Given the description of an element on the screen output the (x, y) to click on. 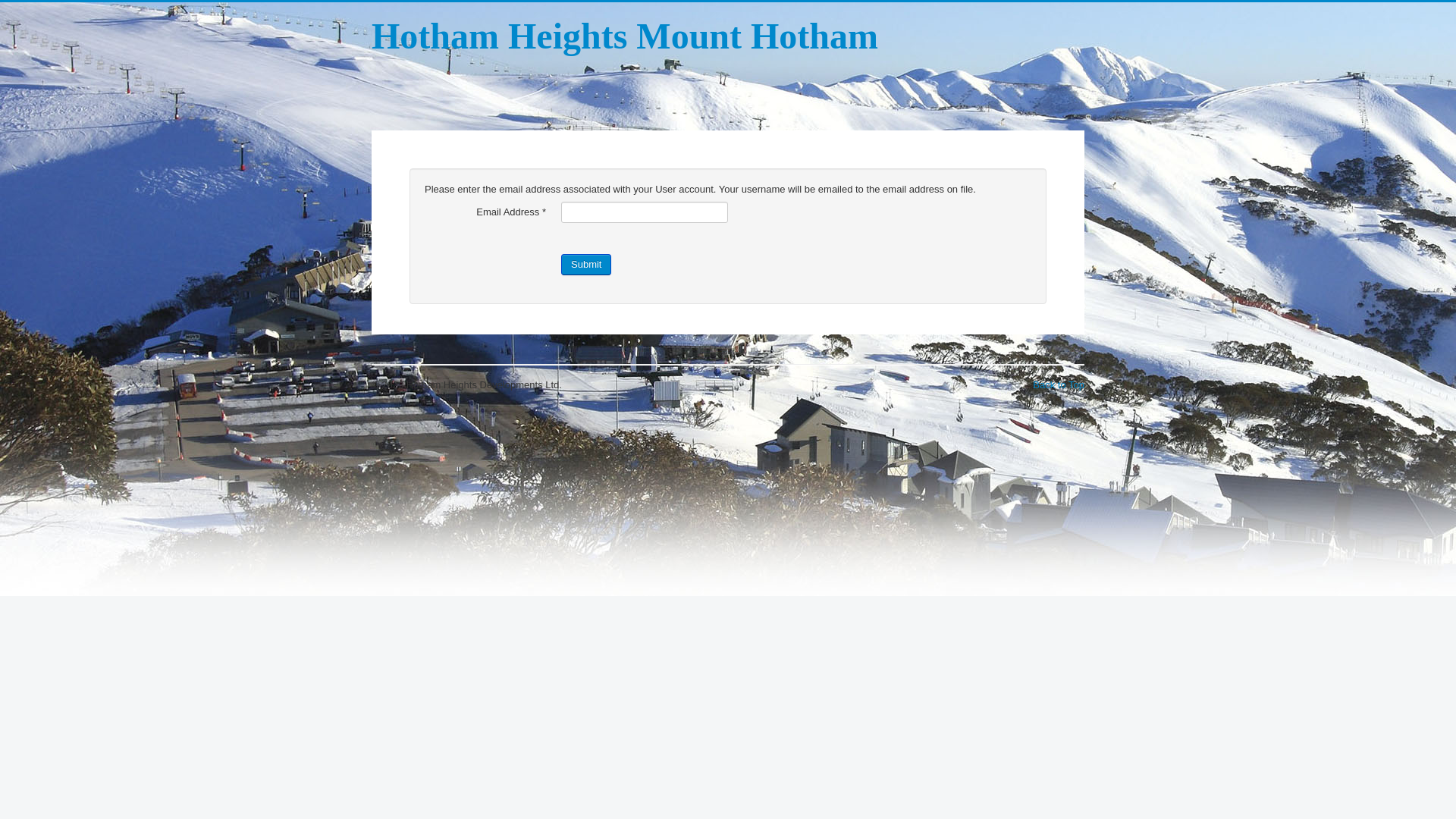
Submit Element type: text (586, 264)
Hotham Heights Mount Hotham Element type: text (624, 36)
Back to Top Element type: text (1058, 384)
